Given the description of an element on the screen output the (x, y) to click on. 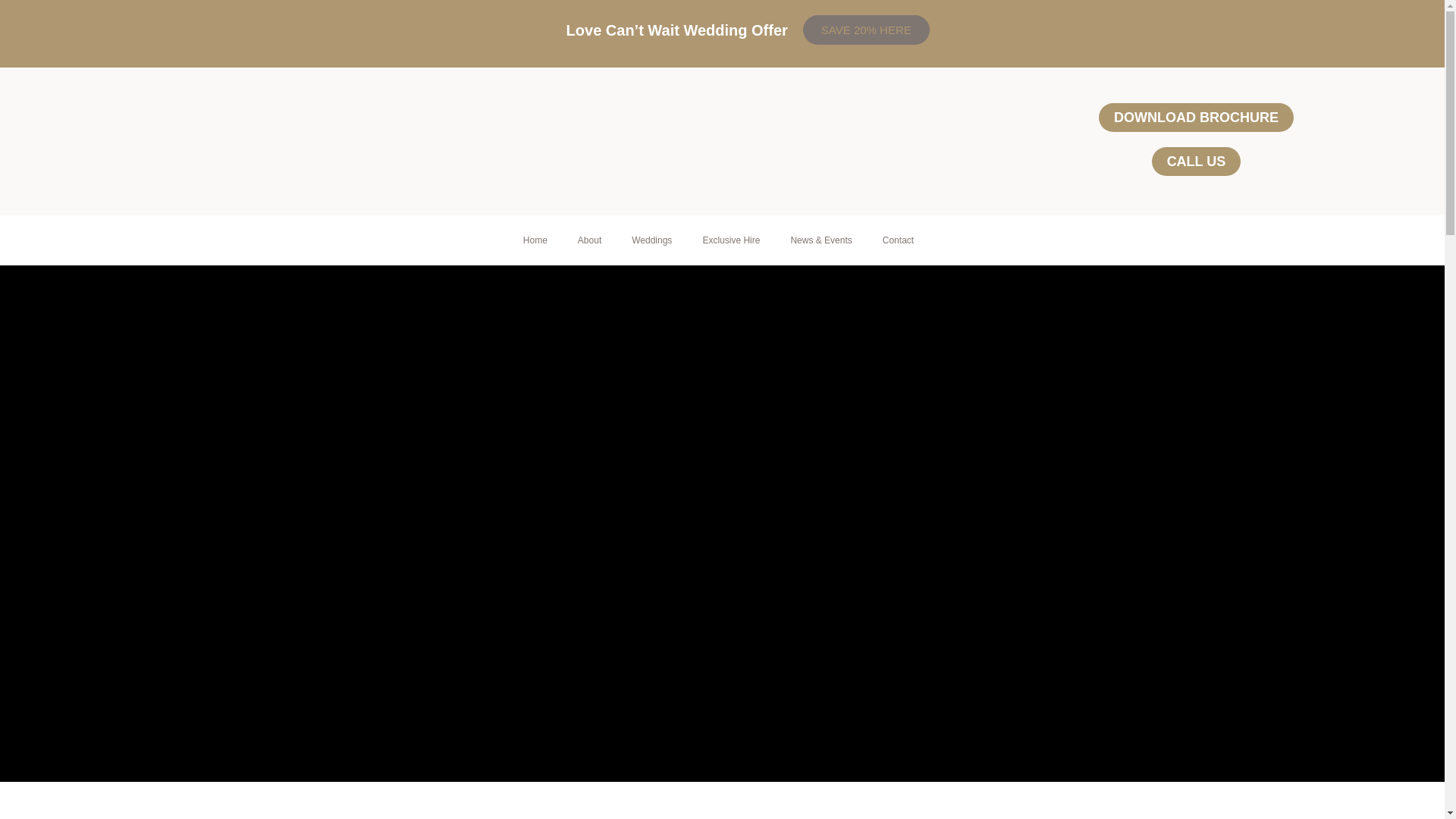
Contact (897, 239)
DOWNLOAD BROCHURE (1196, 117)
About (588, 239)
CALL US (1196, 161)
Exclusive Hire (730, 239)
Home (535, 239)
Weddings (651, 239)
